Given the description of an element on the screen output the (x, y) to click on. 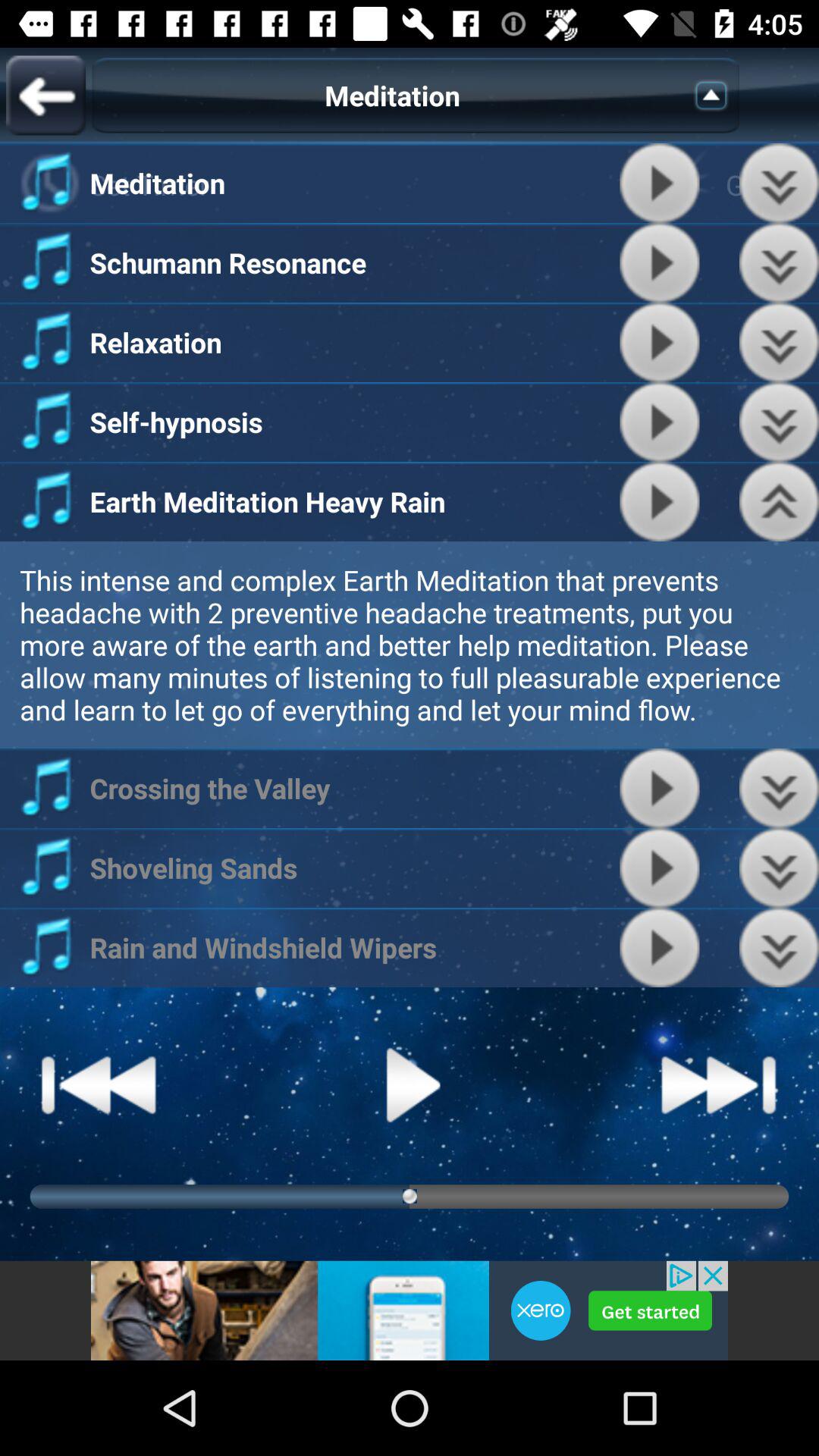
select the play (659, 501)
